Given the description of an element on the screen output the (x, y) to click on. 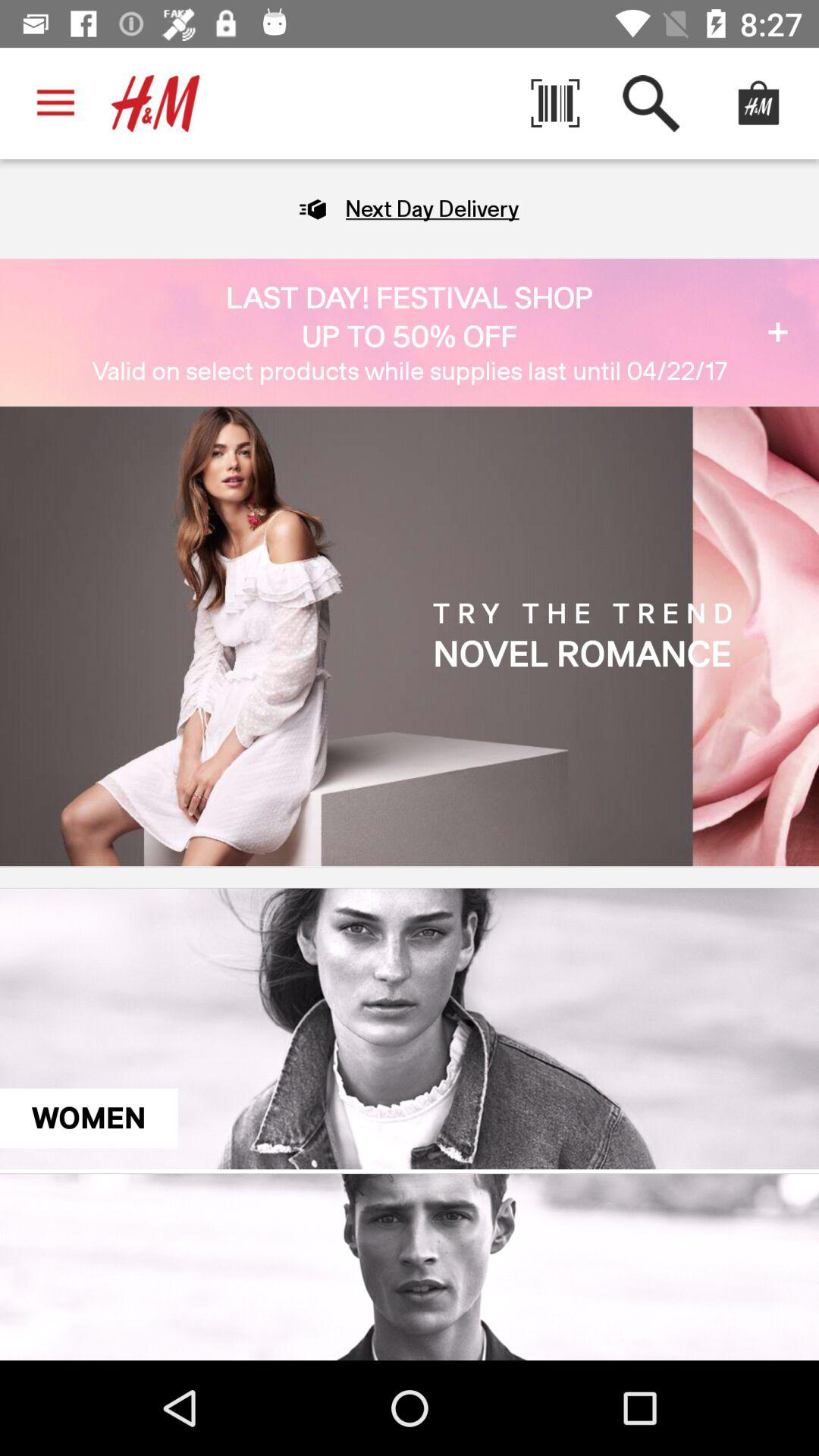
tap the icon above next day delivery icon (555, 103)
